Given the description of an element on the screen output the (x, y) to click on. 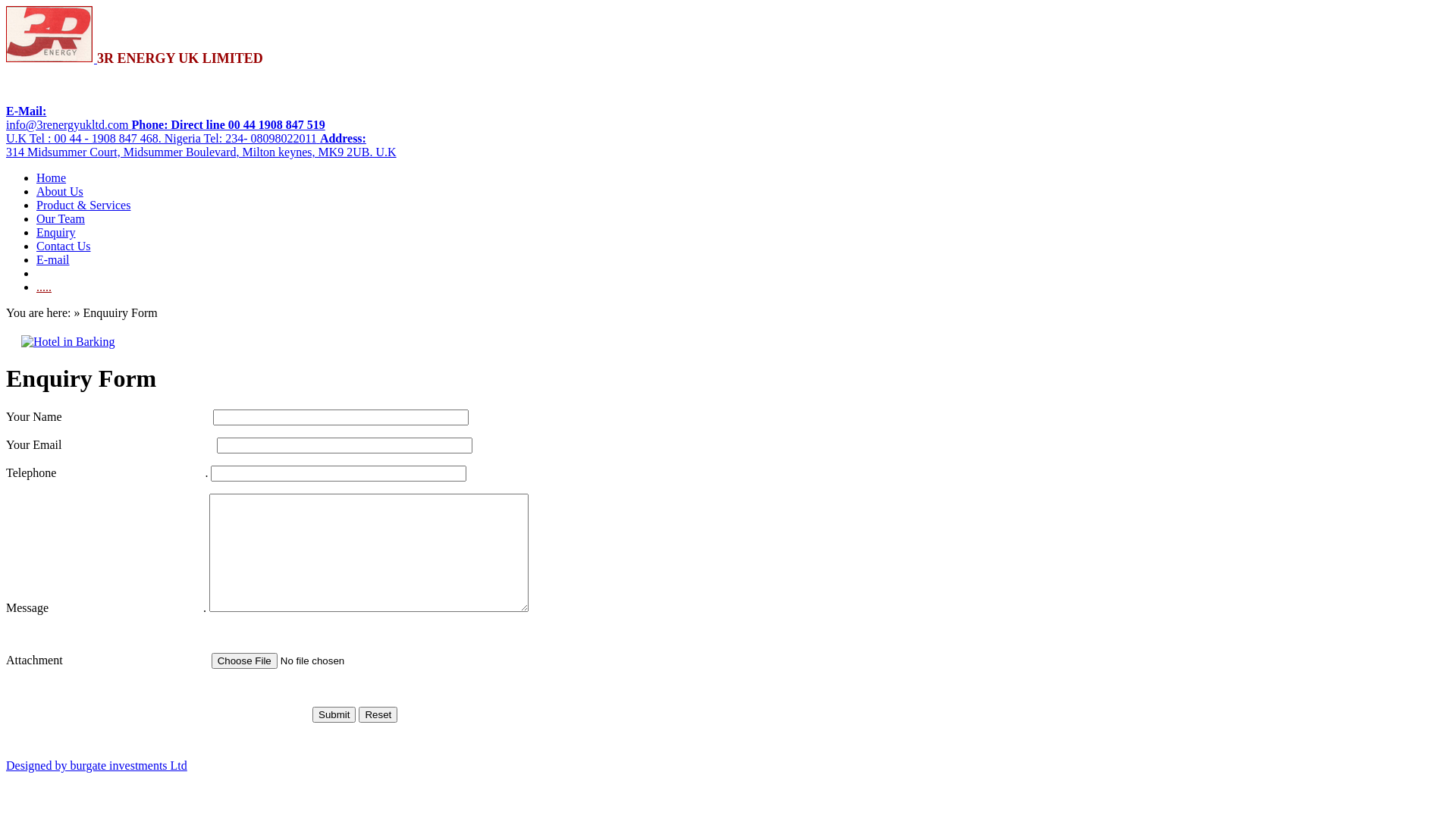
Product & Services Element type: text (83, 204)
E-Mail:
info@3renergyukltd.com Element type: text (68, 117)
Our Team Element type: text (60, 218)
Home Page Element type: hover (95, 58)
E-mail Element type: text (52, 259)
About Us Element type: text (59, 191)
Submit Element type: text (333, 714)
Enquiry Element type: text (55, 231)
Contact Us Element type: text (63, 245)
Home Element type: text (50, 177)
Designed by burgate investments Ltd Element type: text (96, 765)
..... Element type: text (43, 286)
